Given the description of an element on the screen output the (x, y) to click on. 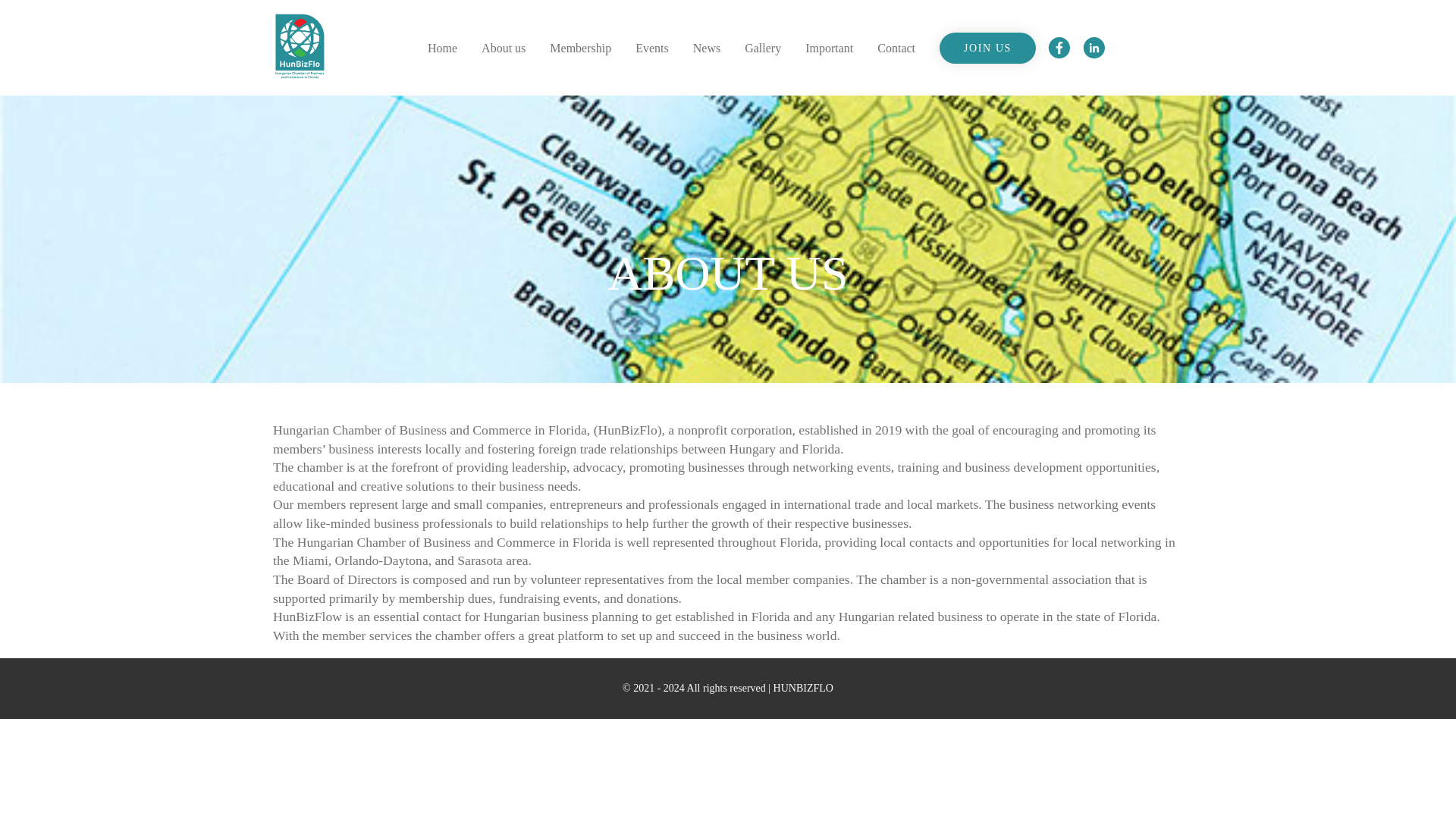
Important (829, 47)
Gallery (762, 47)
News (706, 47)
Home (442, 47)
Events (651, 47)
About us (503, 47)
Contact (896, 47)
Membership (580, 47)
JOIN US (987, 48)
